Given the description of an element on the screen output the (x, y) to click on. 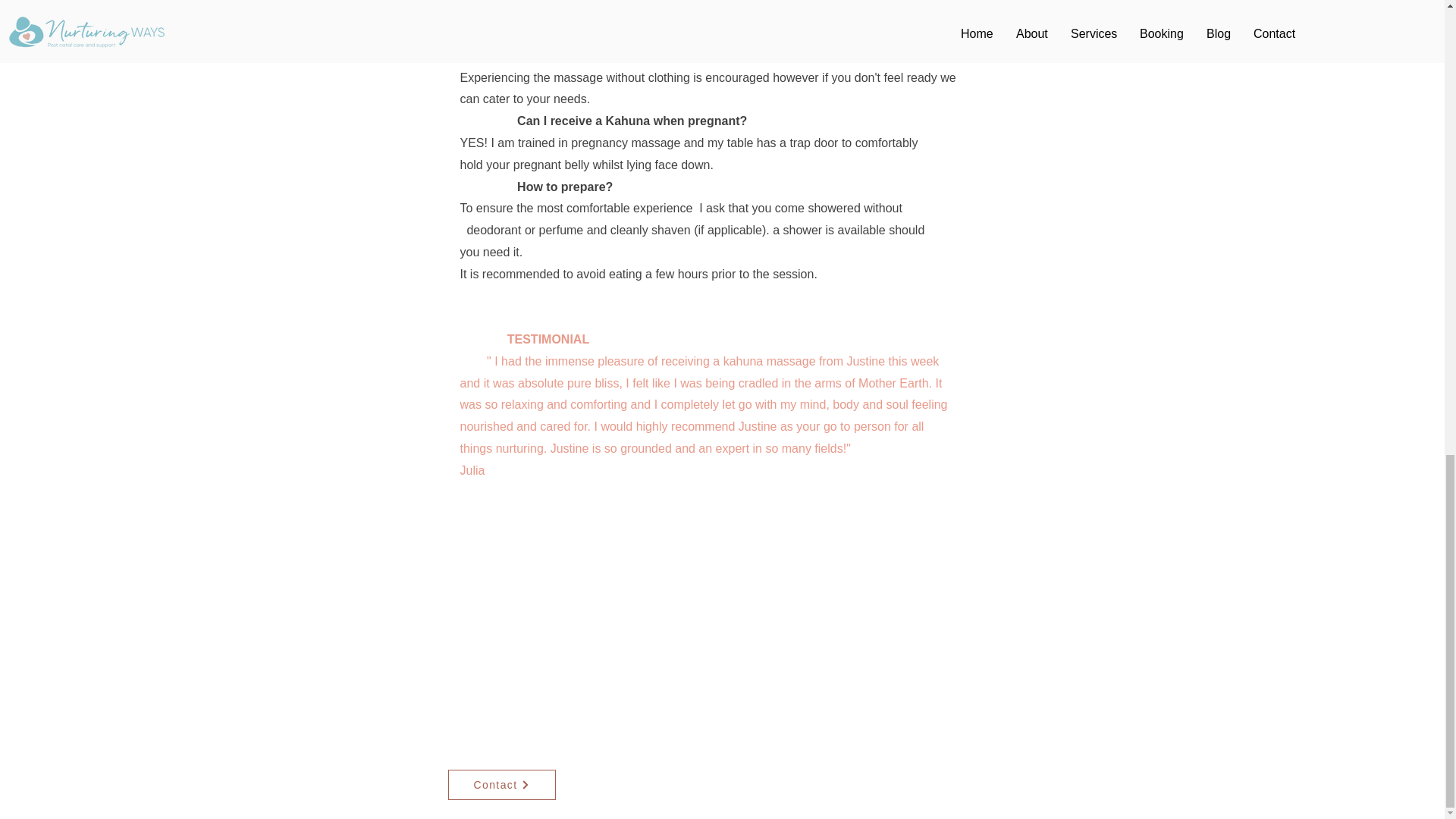
Contact (500, 784)
